Given the description of an element on the screen output the (x, y) to click on. 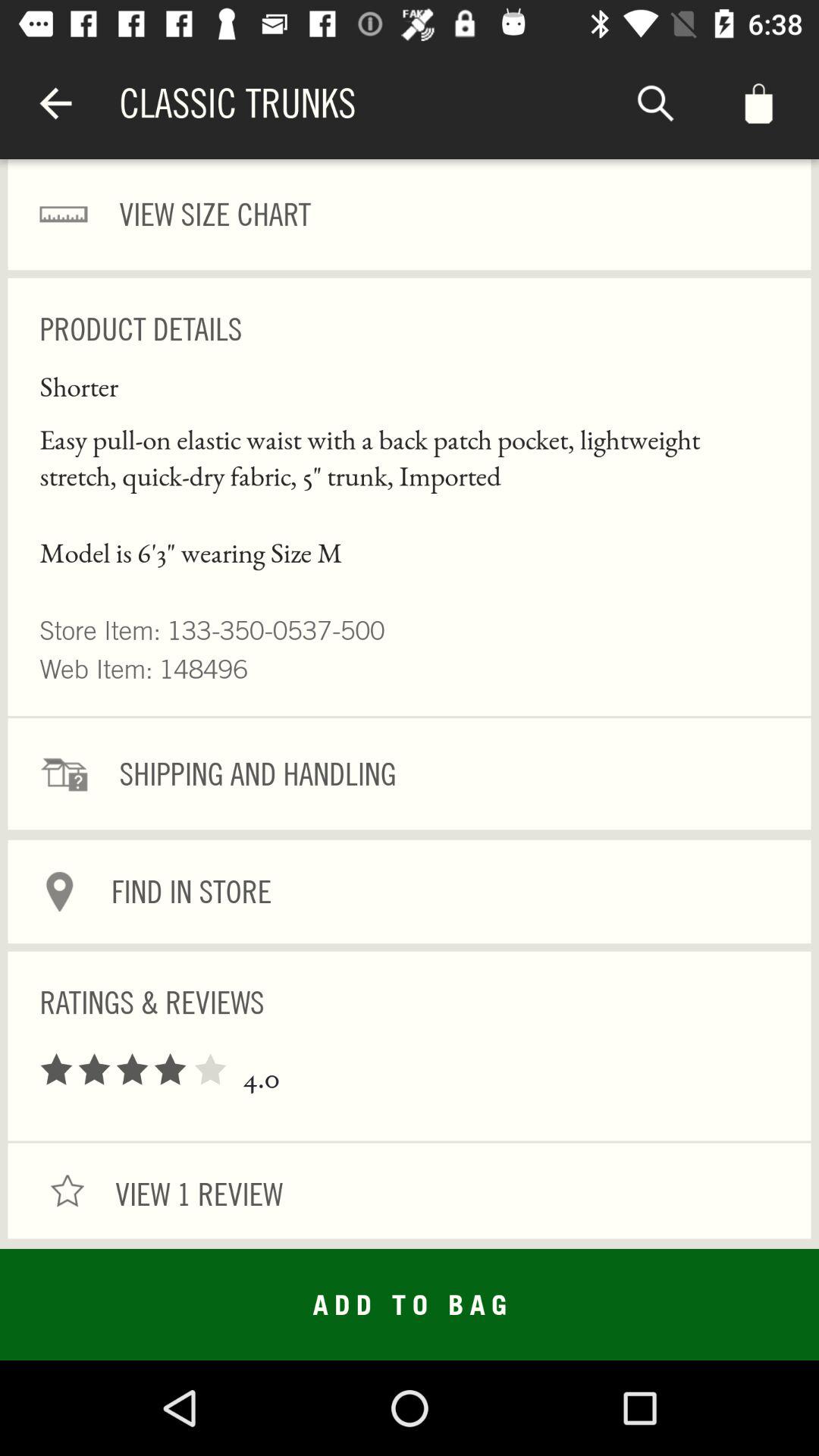
turn on icon above view size chart item (55, 103)
